Given the description of an element on the screen output the (x, y) to click on. 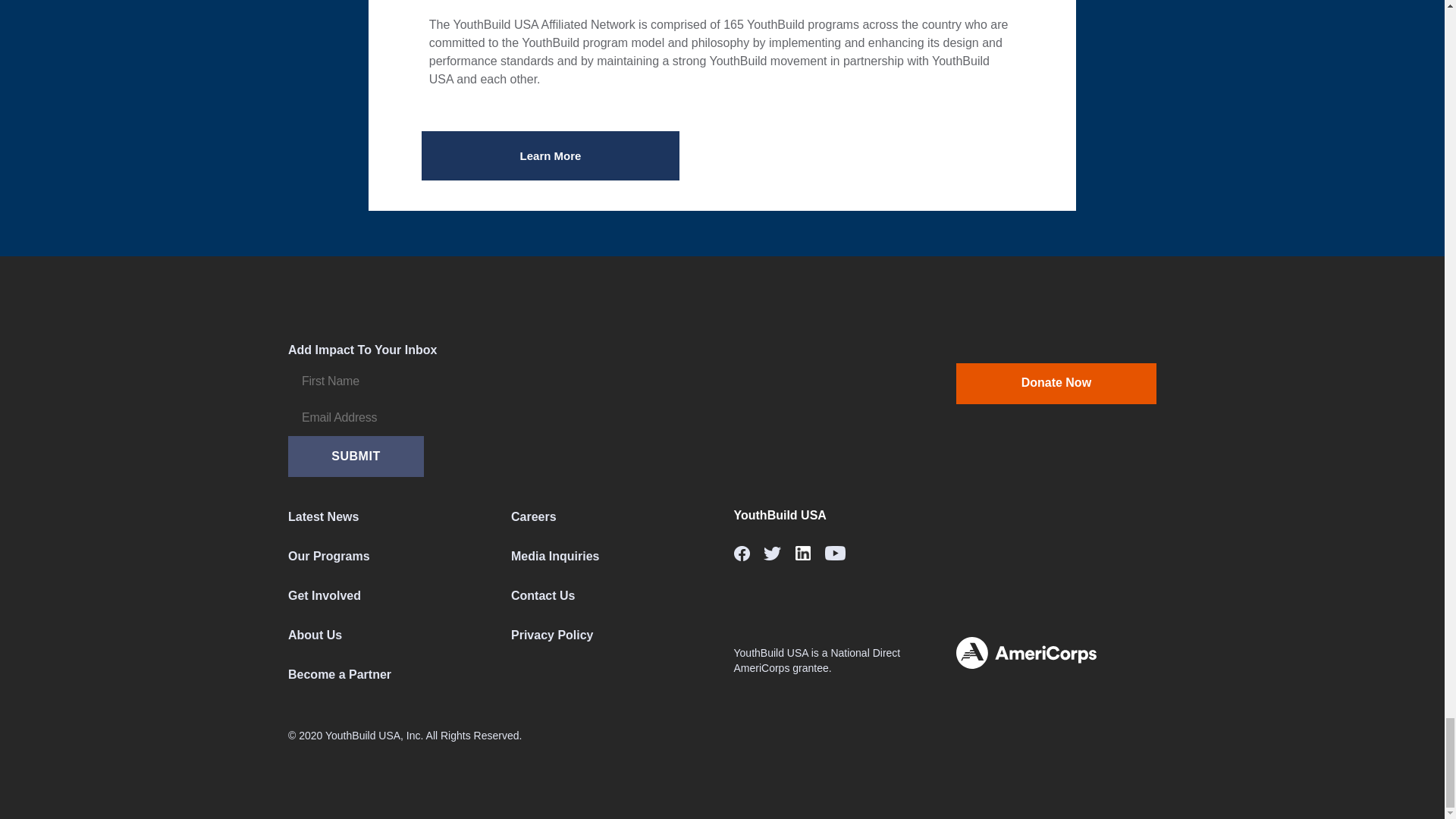
Submit (355, 455)
